Given the description of an element on the screen output the (x, y) to click on. 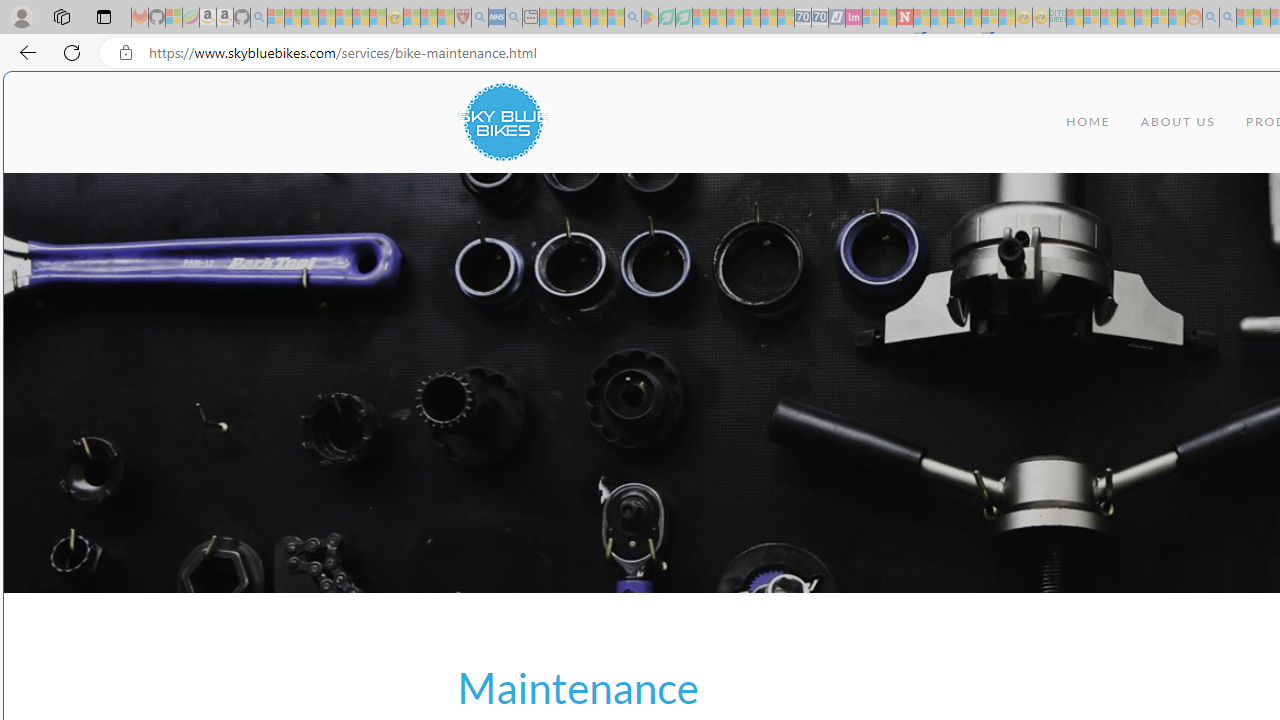
Class: uk-navbar-item uk-logo (502, 122)
